Given the description of an element on the screen output the (x, y) to click on. 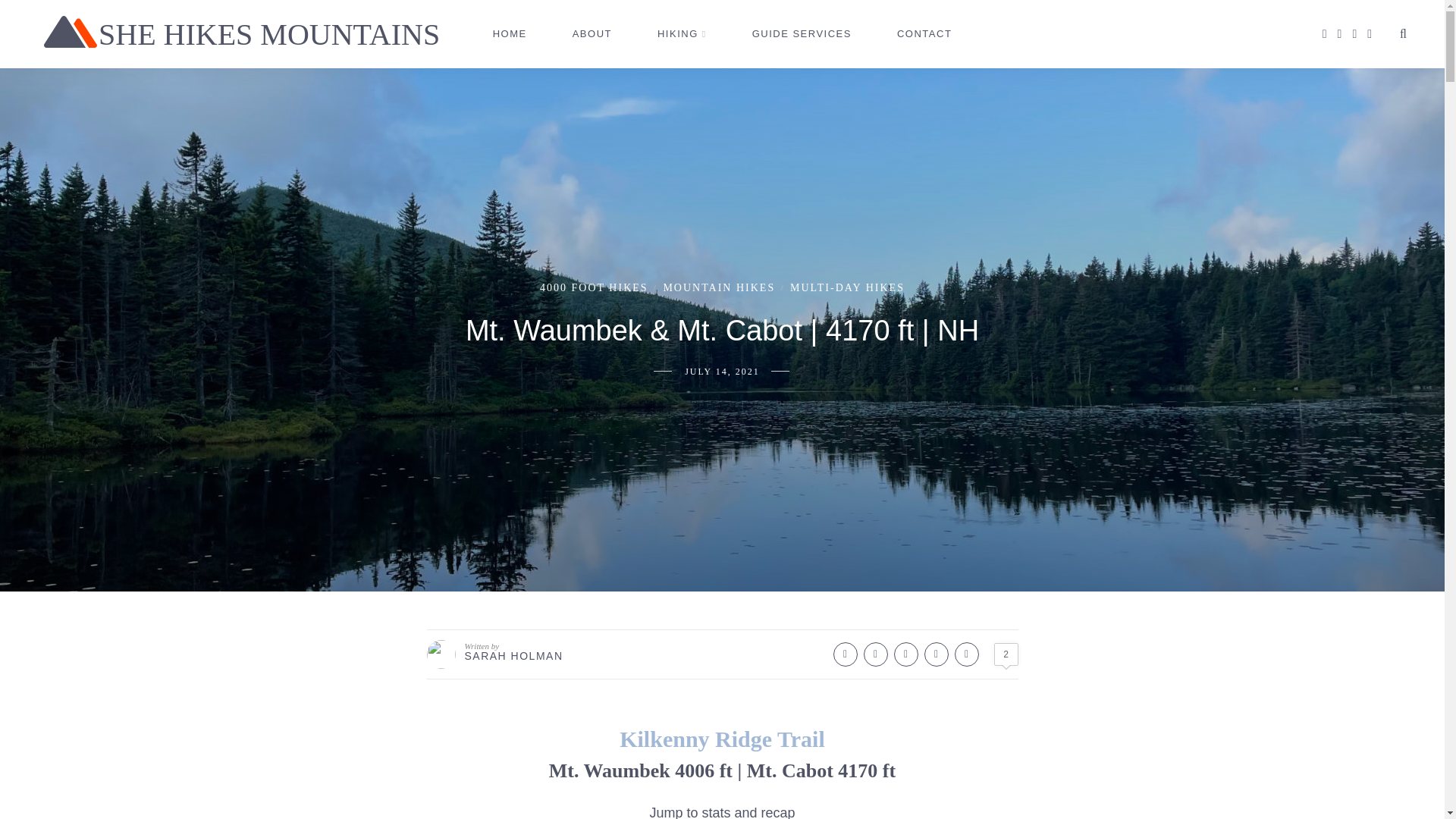
SHE HIKES MOUNTAINS (241, 30)
HIKING (682, 33)
GUIDE SERVICES (801, 33)
MOUNTAIN HIKES (718, 287)
CONTACT (924, 33)
4000 FOOT HIKES (593, 287)
HOME (510, 33)
Posts by Sarah Holman (513, 655)
MULTI-DAY HIKES (847, 287)
ABOUT (591, 33)
JULY 14, 2021 (722, 371)
